Given the description of an element on the screen output the (x, y) to click on. 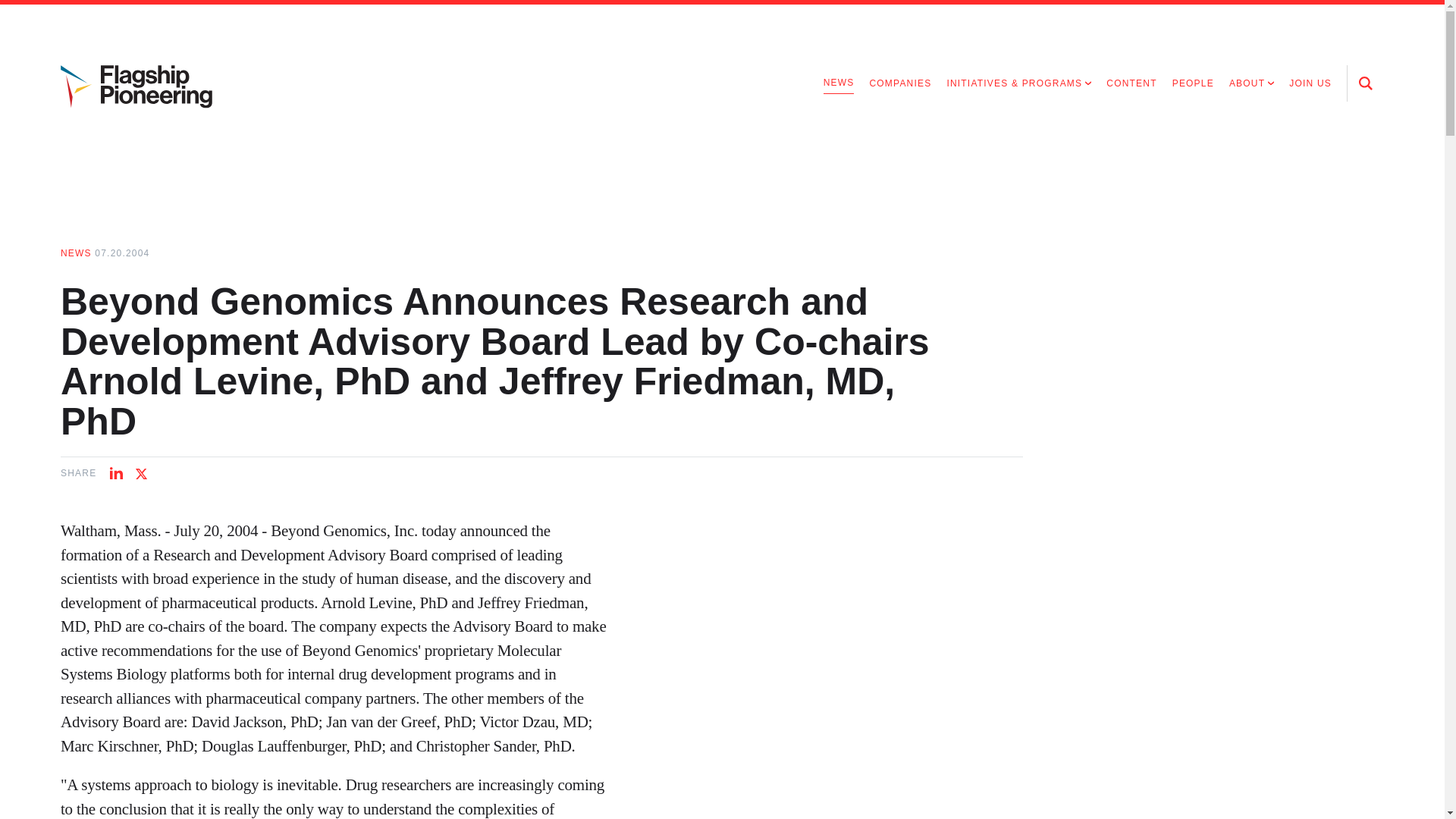
ABOUT (1251, 83)
COMPANIES (900, 83)
Open Search (1365, 83)
JOIN US (1310, 83)
NEWS (76, 253)
CONTENT (1131, 83)
NEWS (839, 83)
PEOPLE (1193, 83)
